Given the description of an element on the screen output the (x, y) to click on. 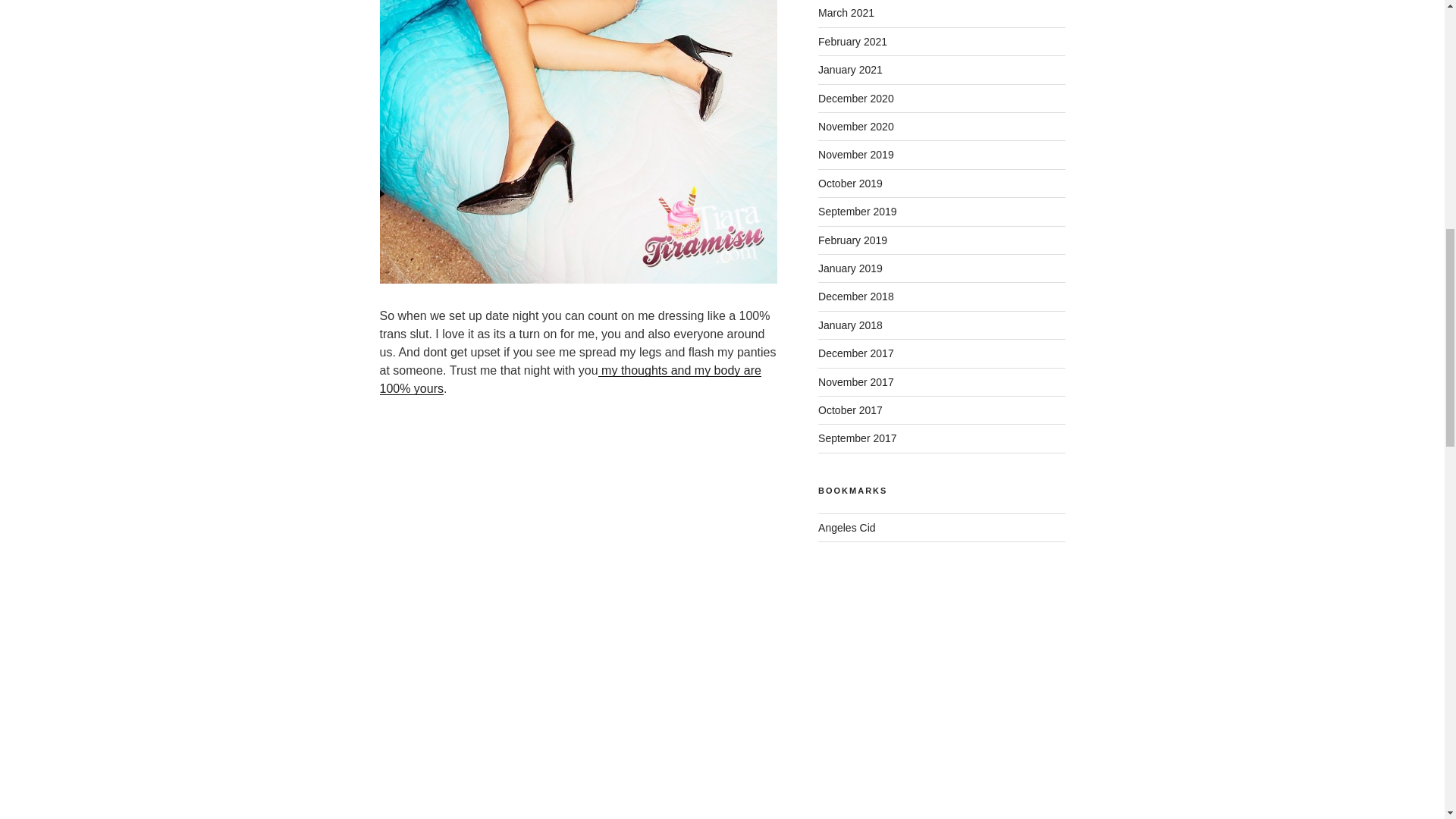
March 2021 (846, 12)
January 2021 (850, 69)
December 2020 (855, 98)
February 2021 (852, 41)
